Given the description of an element on the screen output the (x, y) to click on. 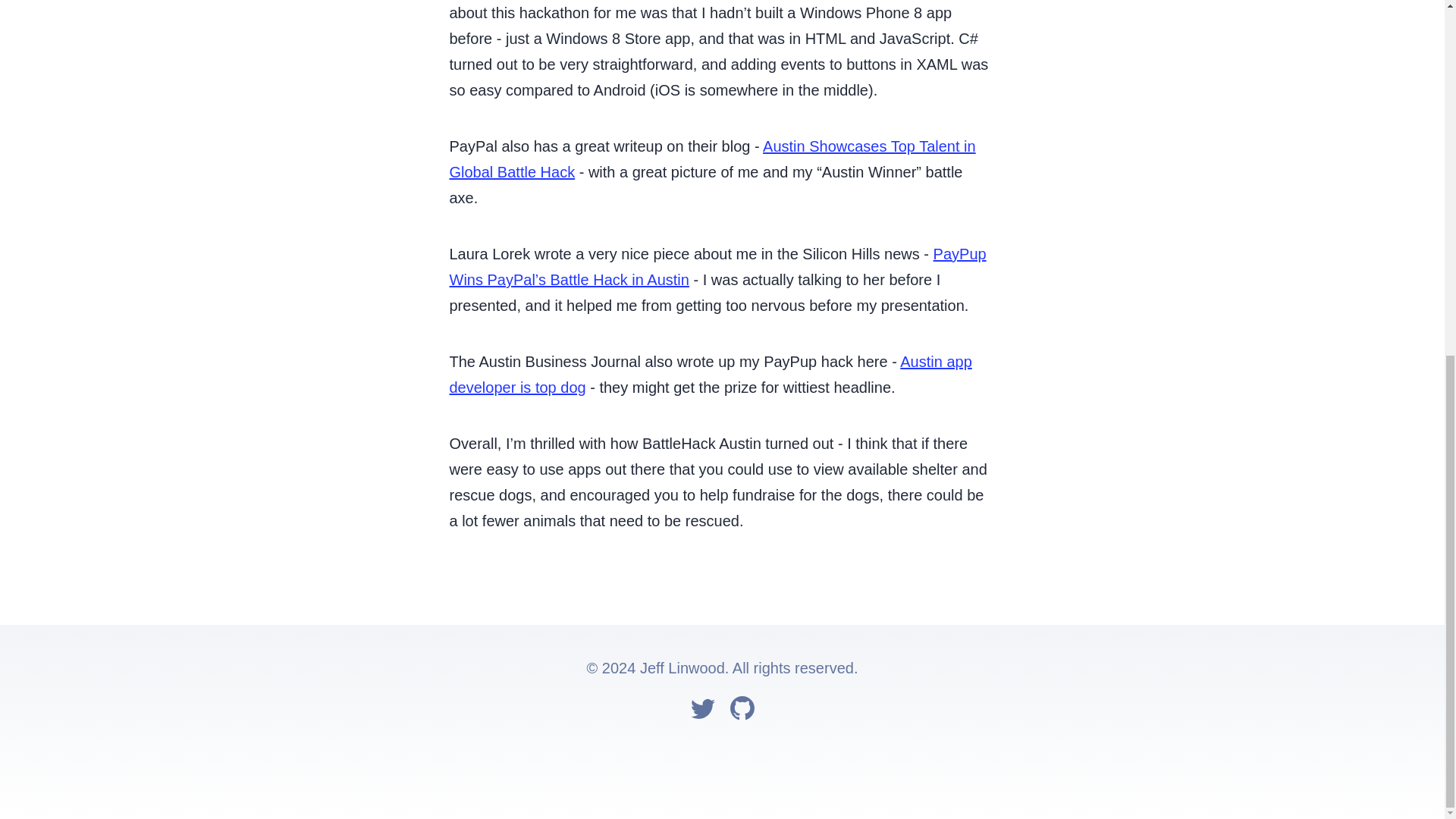
Austin Showcases Top Talent in Global Battle Hack (711, 159)
Jeff's GitHub page (741, 712)
Austin app developer is top dog (709, 373)
Follow Jeff on Twitter (702, 712)
